Given the description of an element on the screen output the (x, y) to click on. 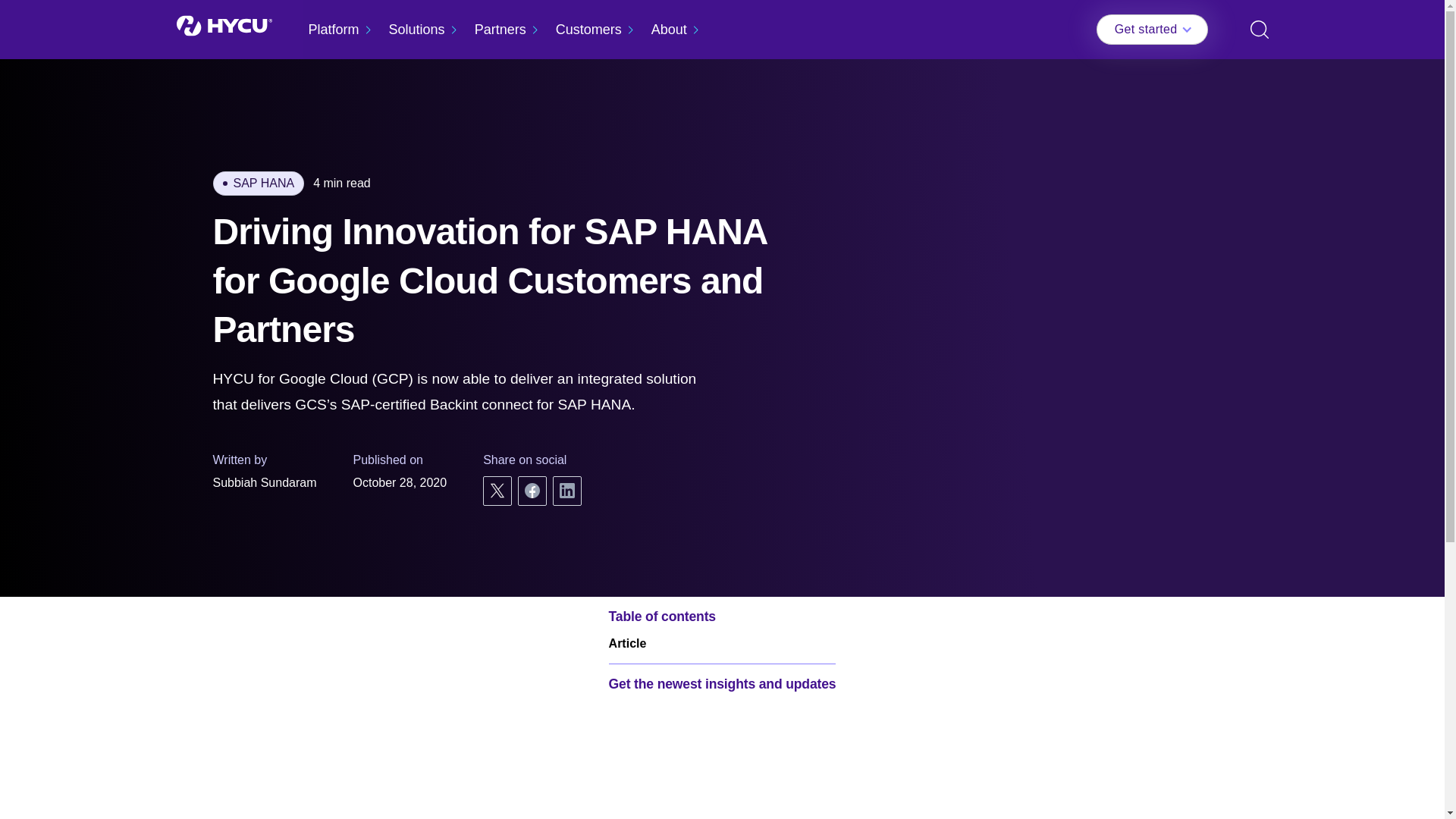
Partners (499, 29)
Platform (333, 29)
Solutions (416, 29)
